Given the description of an element on the screen output the (x, y) to click on. 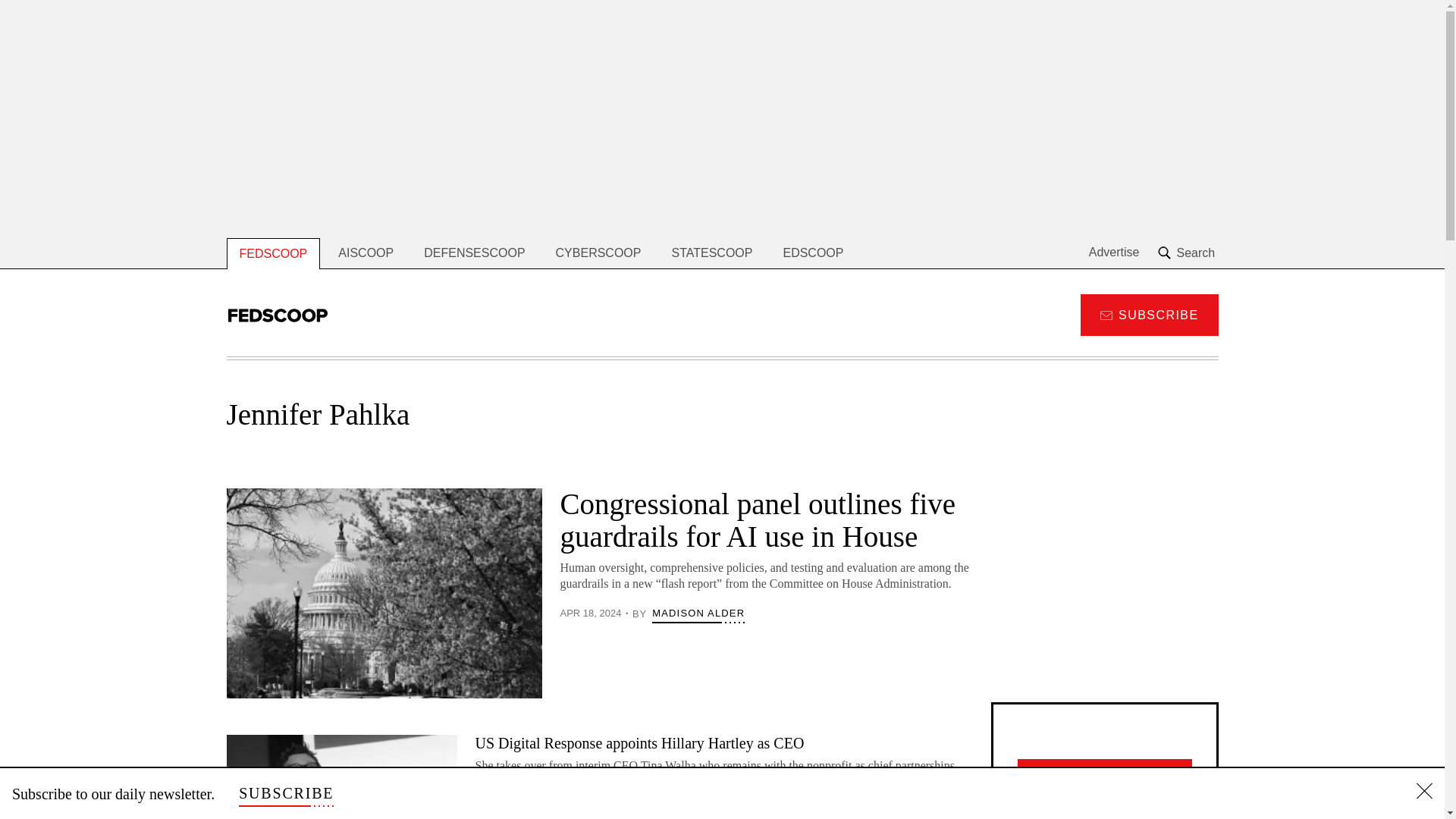
Advertise (1114, 252)
CYBERSCOOP (598, 253)
MADISON ALDER (698, 612)
Search (1187, 252)
DEFENSESCOOP (474, 253)
AISCOOP (366, 253)
SUBSCRIBE (285, 793)
FEDSCOOP (272, 253)
